Given the description of an element on the screen output the (x, y) to click on. 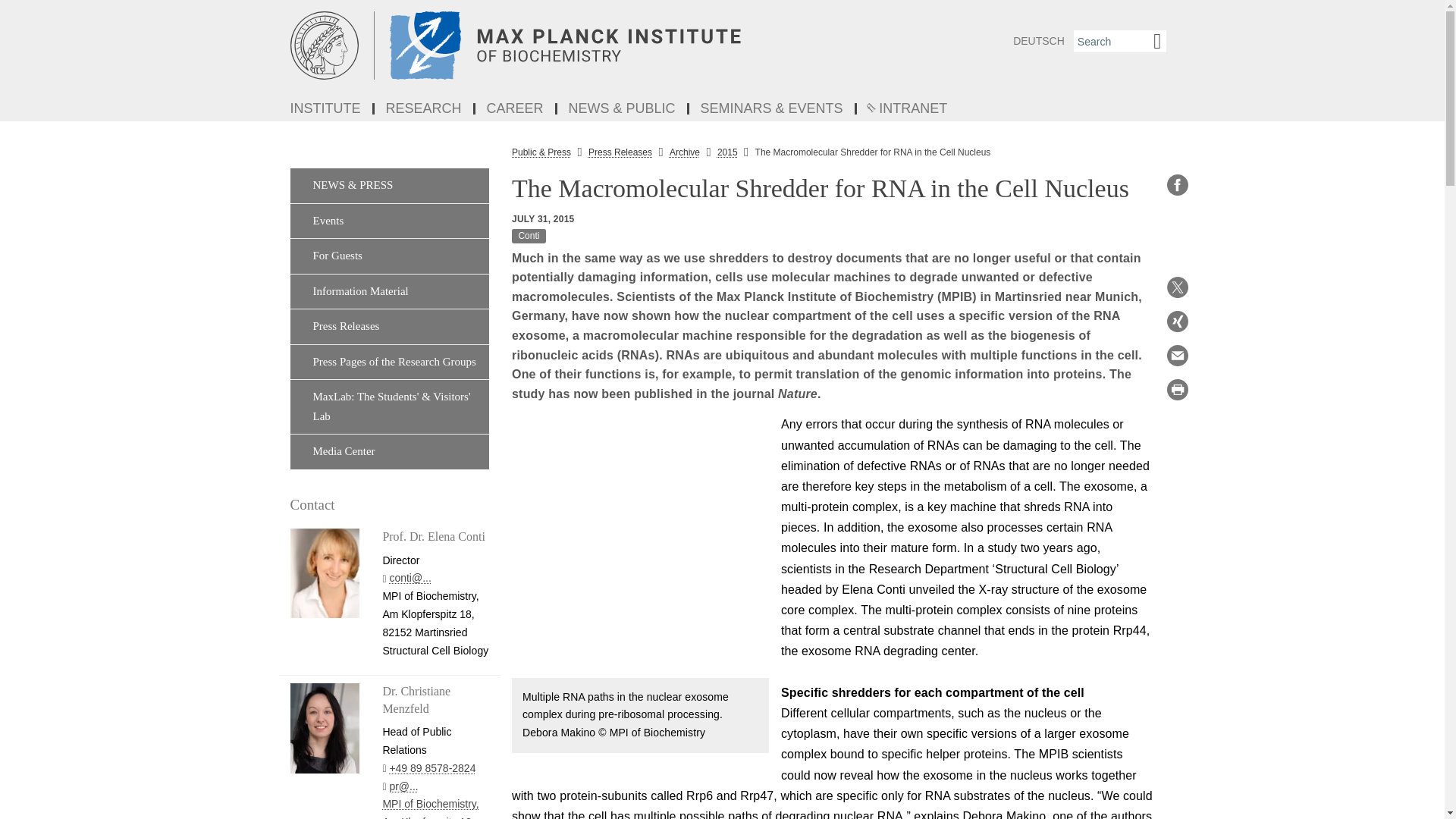
LinkedIn (1177, 219)
Facebook (1177, 184)
RESEARCH (425, 108)
CAREER (516, 108)
DEUTSCH (1038, 41)
Reddit (1177, 252)
Twitter (1177, 287)
E-Mail (1177, 354)
opens zoom view (640, 545)
